Given the description of an element on the screen output the (x, y) to click on. 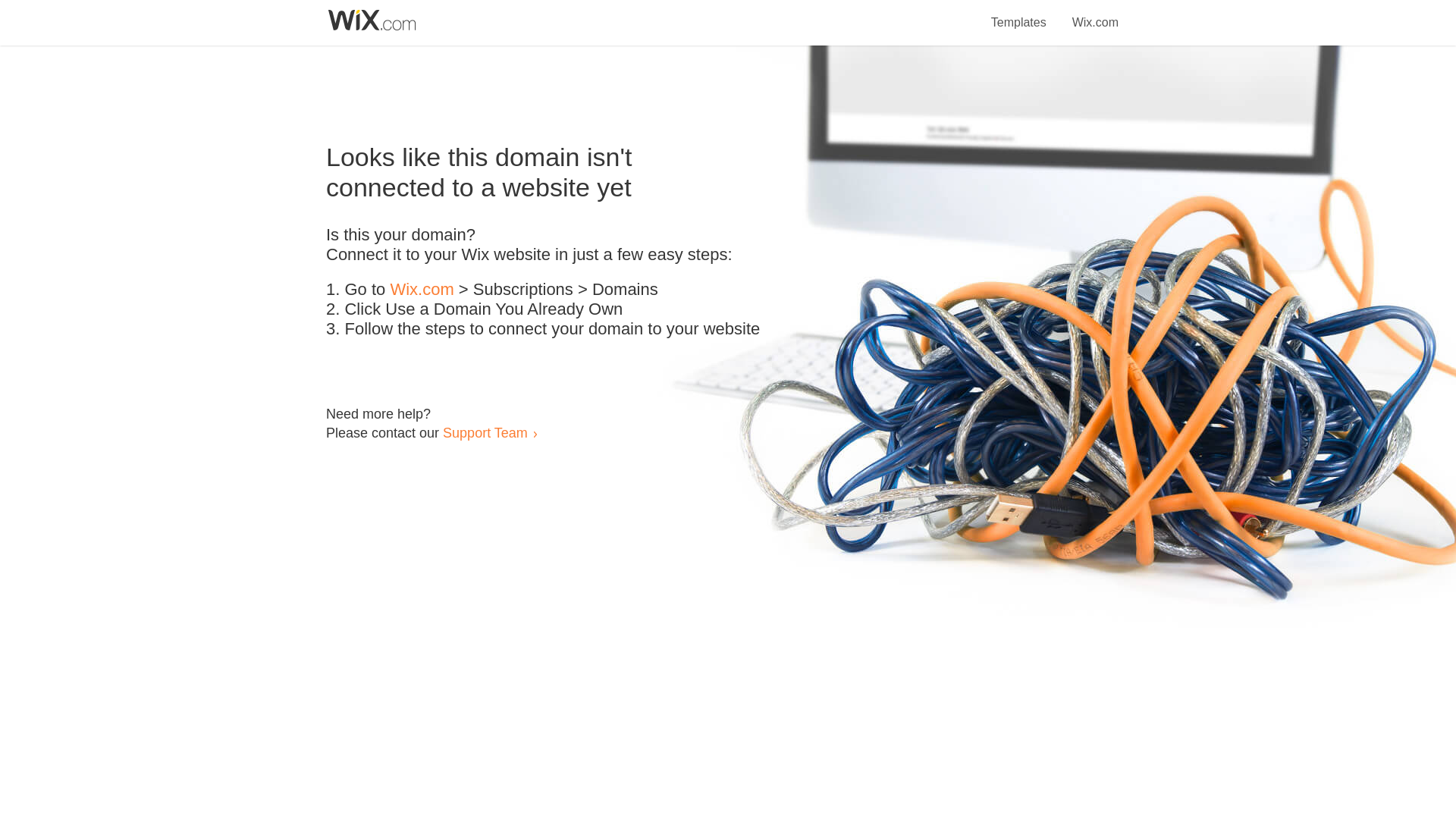
Templates (1018, 14)
Wix.com (421, 289)
Support Team (484, 432)
Wix.com (1095, 14)
